Given the description of an element on the screen output the (x, y) to click on. 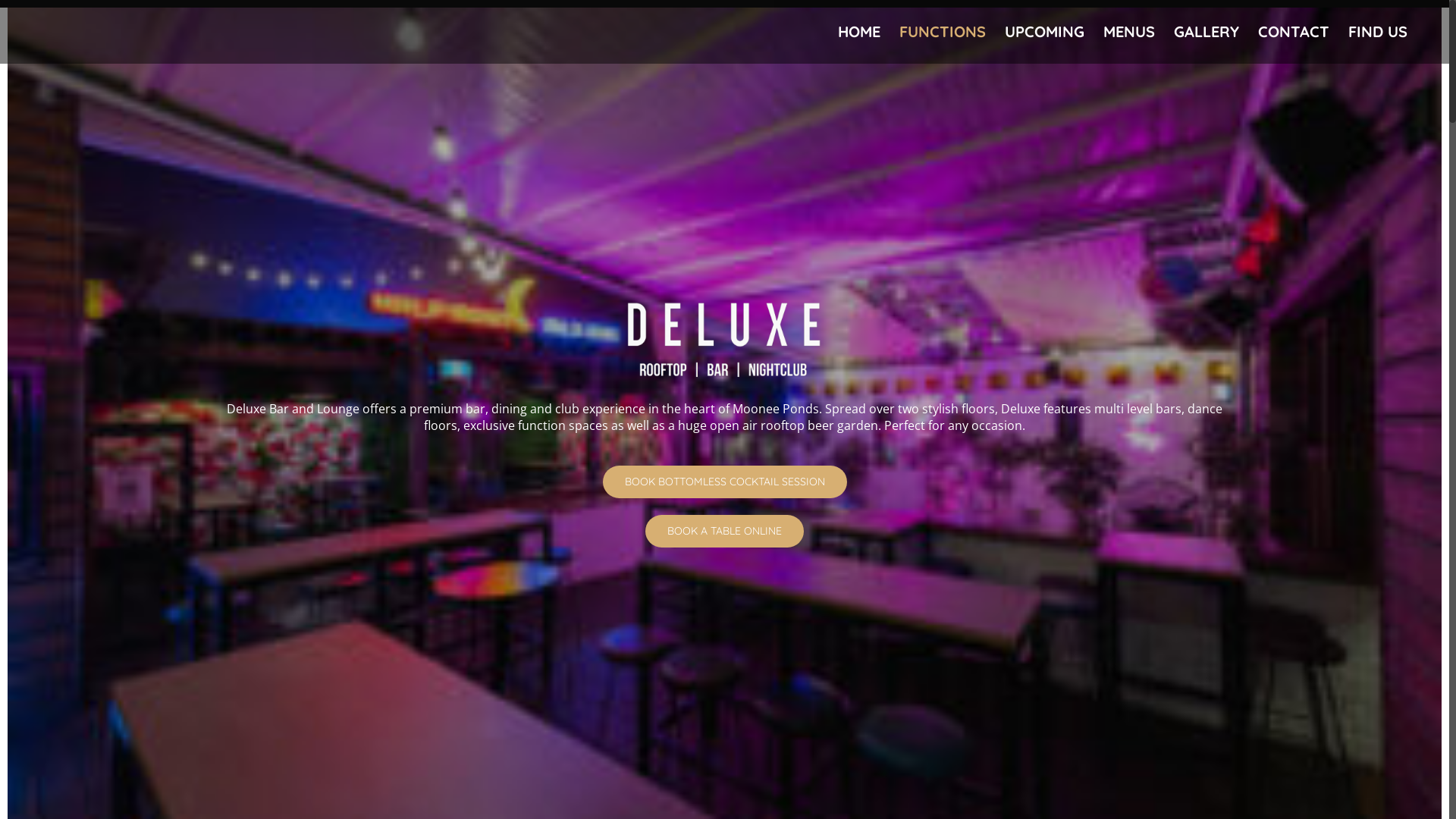
CONTACT Element type: text (1293, 31)
BOOK BOTTOMLESS COCKTAIL SESSION Element type: text (724, 481)
FIND US Element type: text (1377, 31)
FUNCTIONS Element type: text (942, 31)
GALLERY Element type: text (1206, 31)
BOOK A TABLE ONLINE Element type: text (724, 530)
main-sliding-logo Element type: hover (724, 339)
UPCOMING Element type: text (1044, 31)
HOME Element type: text (858, 31)
MENUS Element type: text (1128, 31)
